Given the description of an element on the screen output the (x, y) to click on. 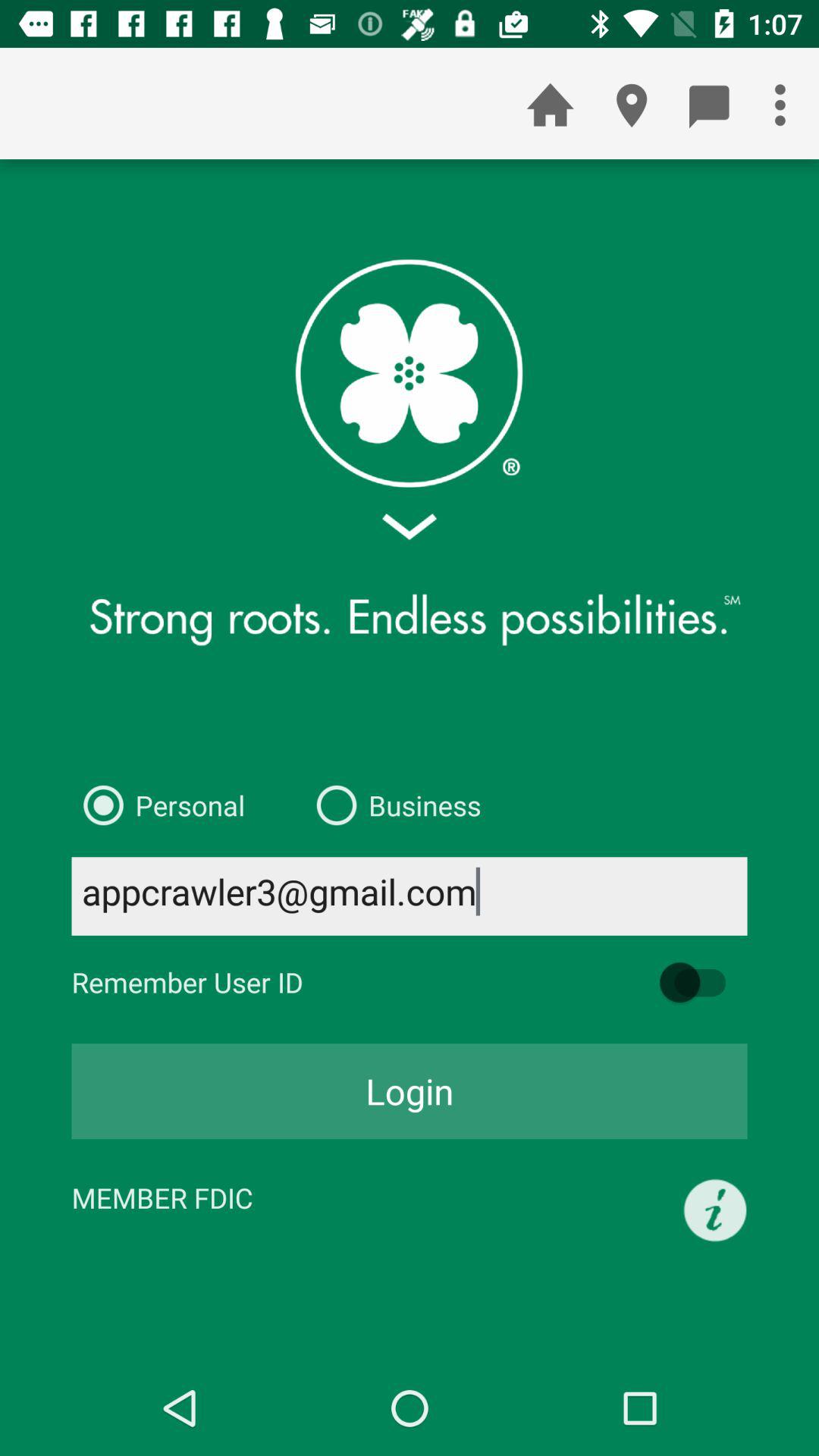
swipe to appcrawler3@gmail.com icon (409, 896)
